Given the description of an element on the screen output the (x, y) to click on. 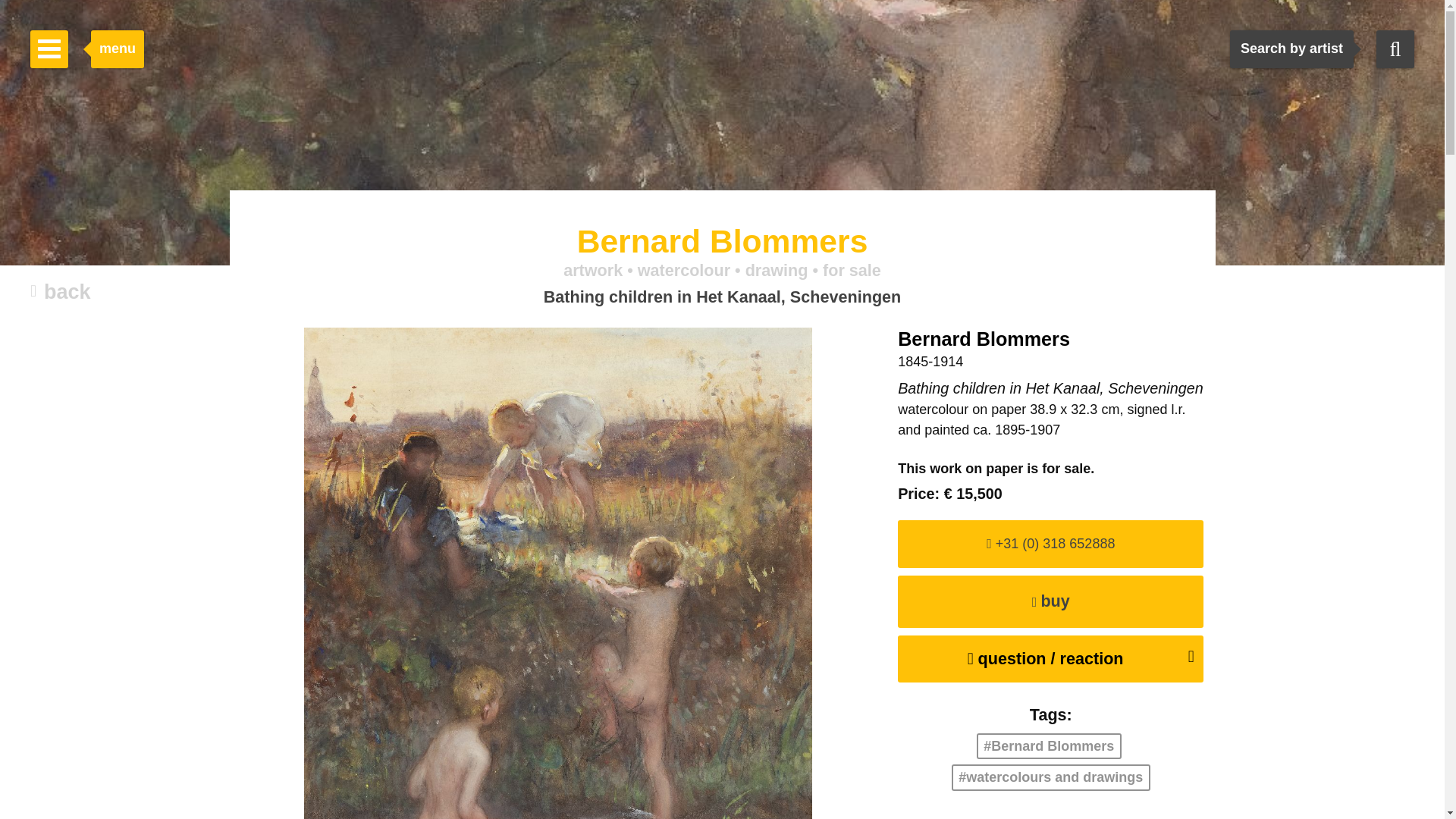
back (60, 291)
